Given the description of an element on the screen output the (x, y) to click on. 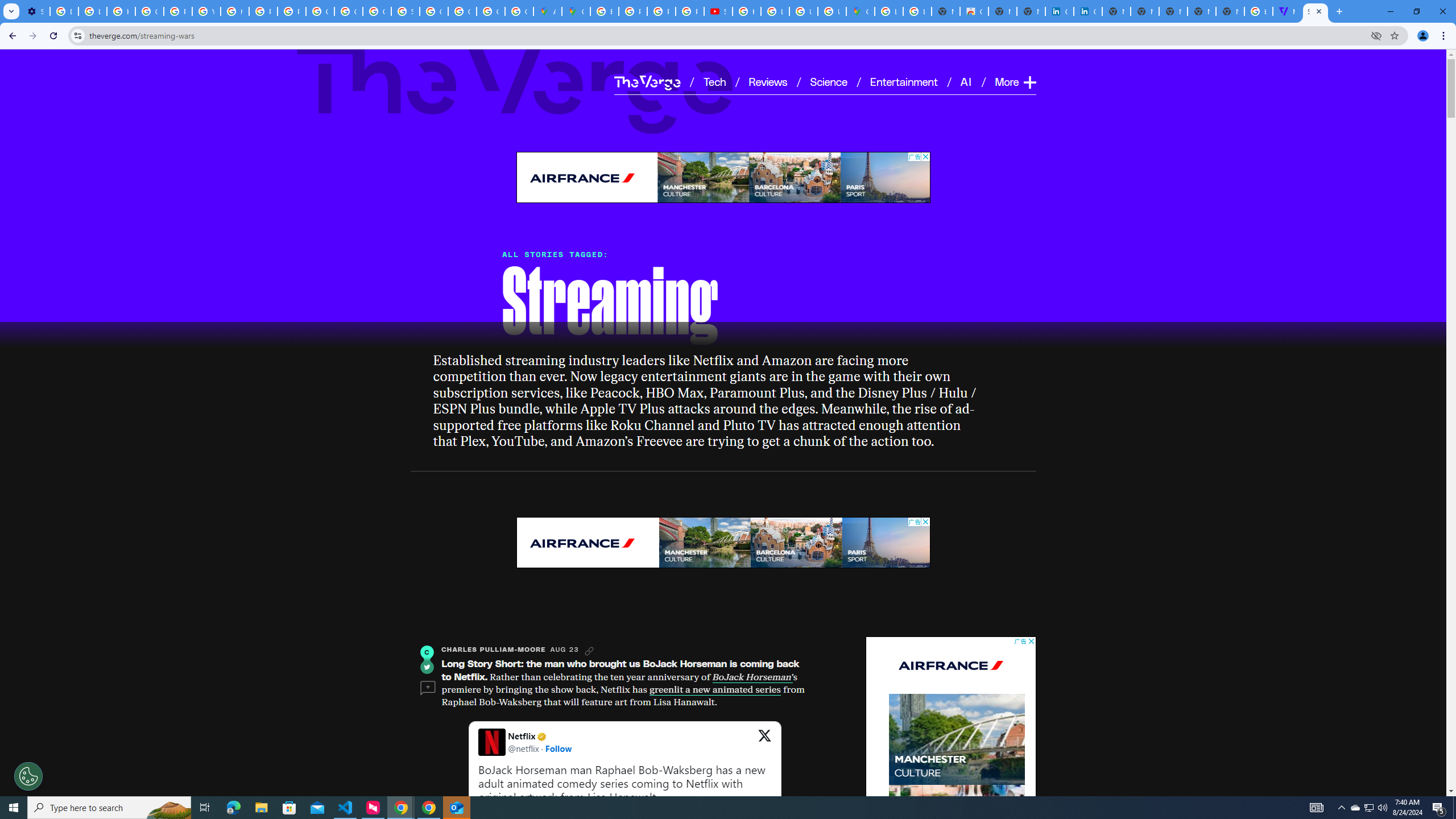
The Verge (515, 85)
Chrome Web Store (973, 11)
@netflix (523, 748)
Tech (714, 81)
Google Maps (860, 11)
View on X (764, 741)
AUG 23 (564, 649)
CHARLES PULLIAM-MOORE (493, 649)
Google Maps (575, 11)
Netflix Verified account (540, 735)
Blogger Policies and Guidelines - Transparency Center (604, 11)
